Given the description of an element on the screen output the (x, y) to click on. 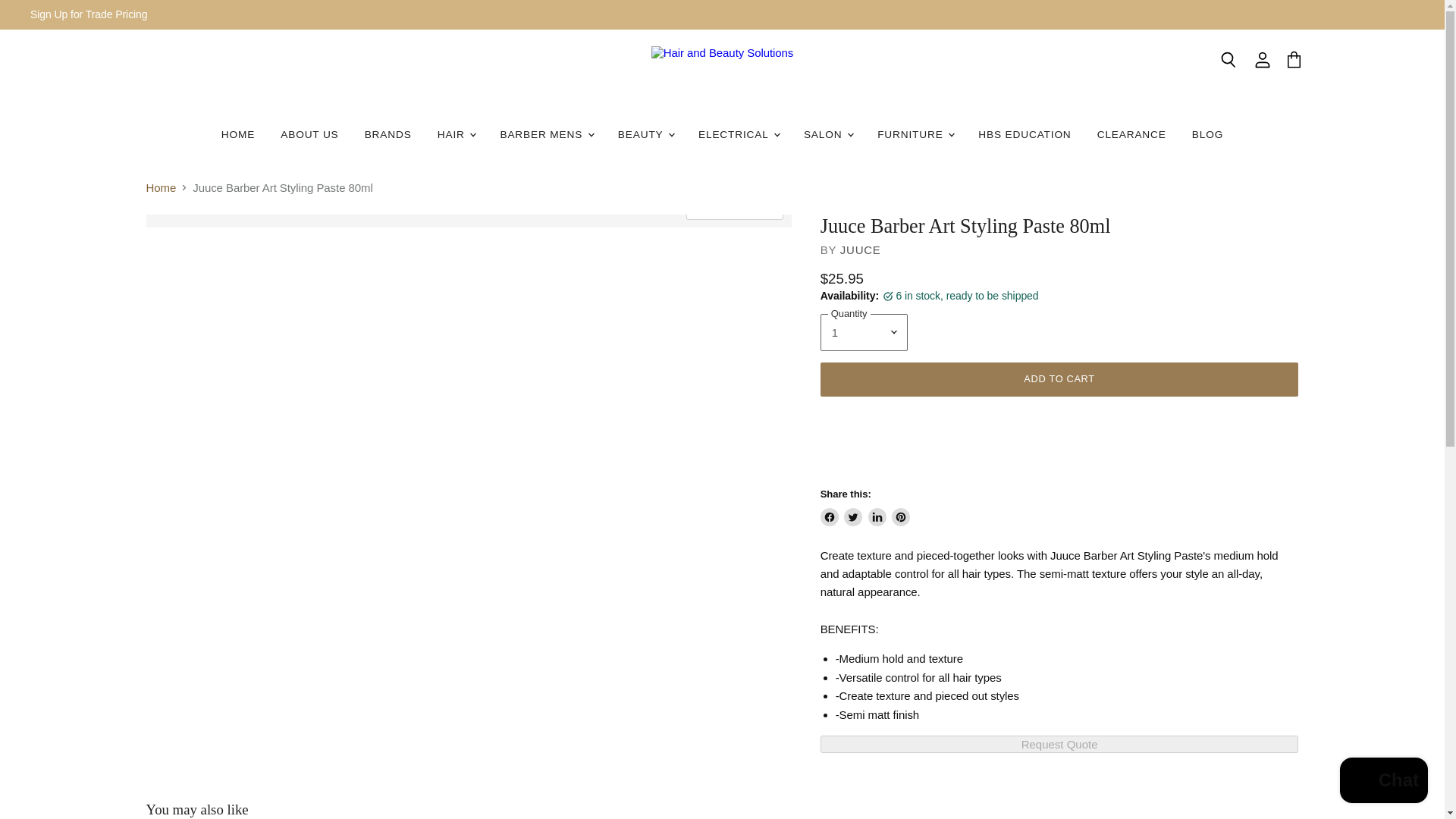
Sign Up for Trade Pricing (89, 14)
HOME (237, 133)
BEAUTY (645, 133)
BARBER MENS (544, 133)
HAIR (456, 133)
ABOUT US (309, 133)
SALON (827, 133)
BRANDS (388, 133)
Shopify online store chat (1383, 781)
ELECTRICAL (738, 133)
Juuce (860, 249)
